Given the description of an element on the screen output the (x, y) to click on. 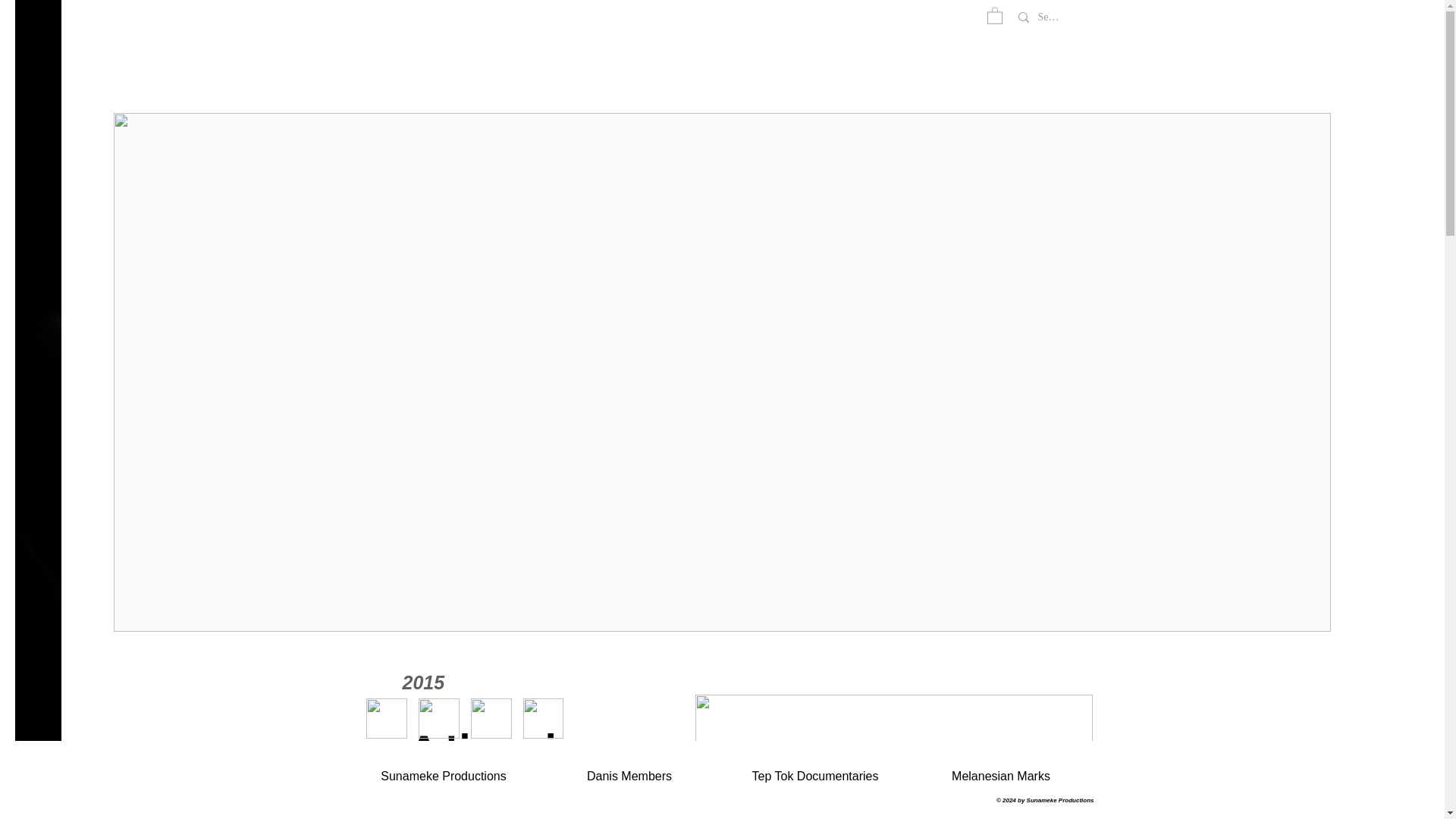
Danis Members (629, 775)
Melanesian Marks (1001, 775)
Sunameke Productions (442, 775)
Tep Tok Documentaries (814, 775)
